Given the description of an element on the screen output the (x, y) to click on. 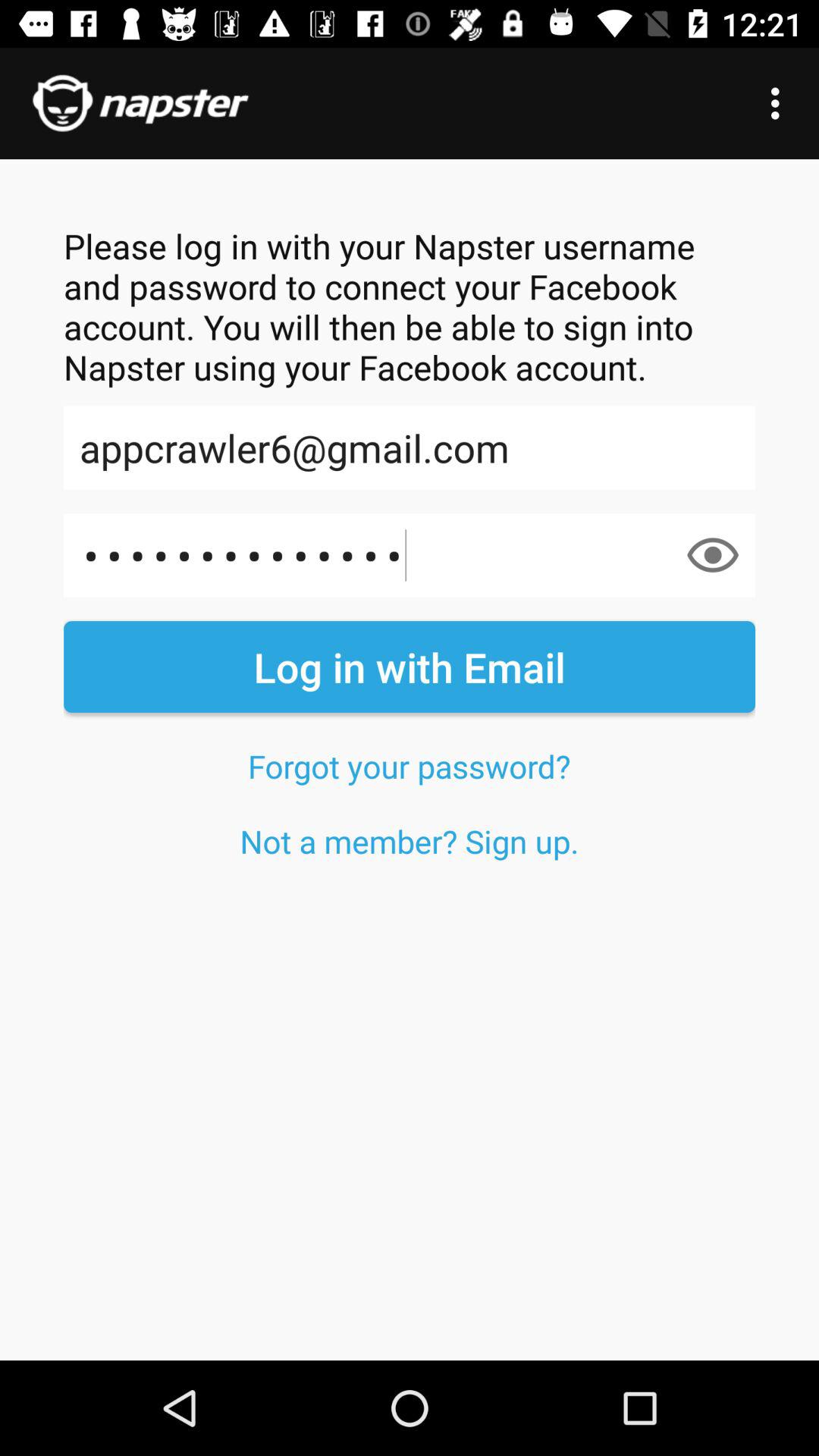
turn off icon above appcrawler3116 item (409, 447)
